Given the description of an element on the screen output the (x, y) to click on. 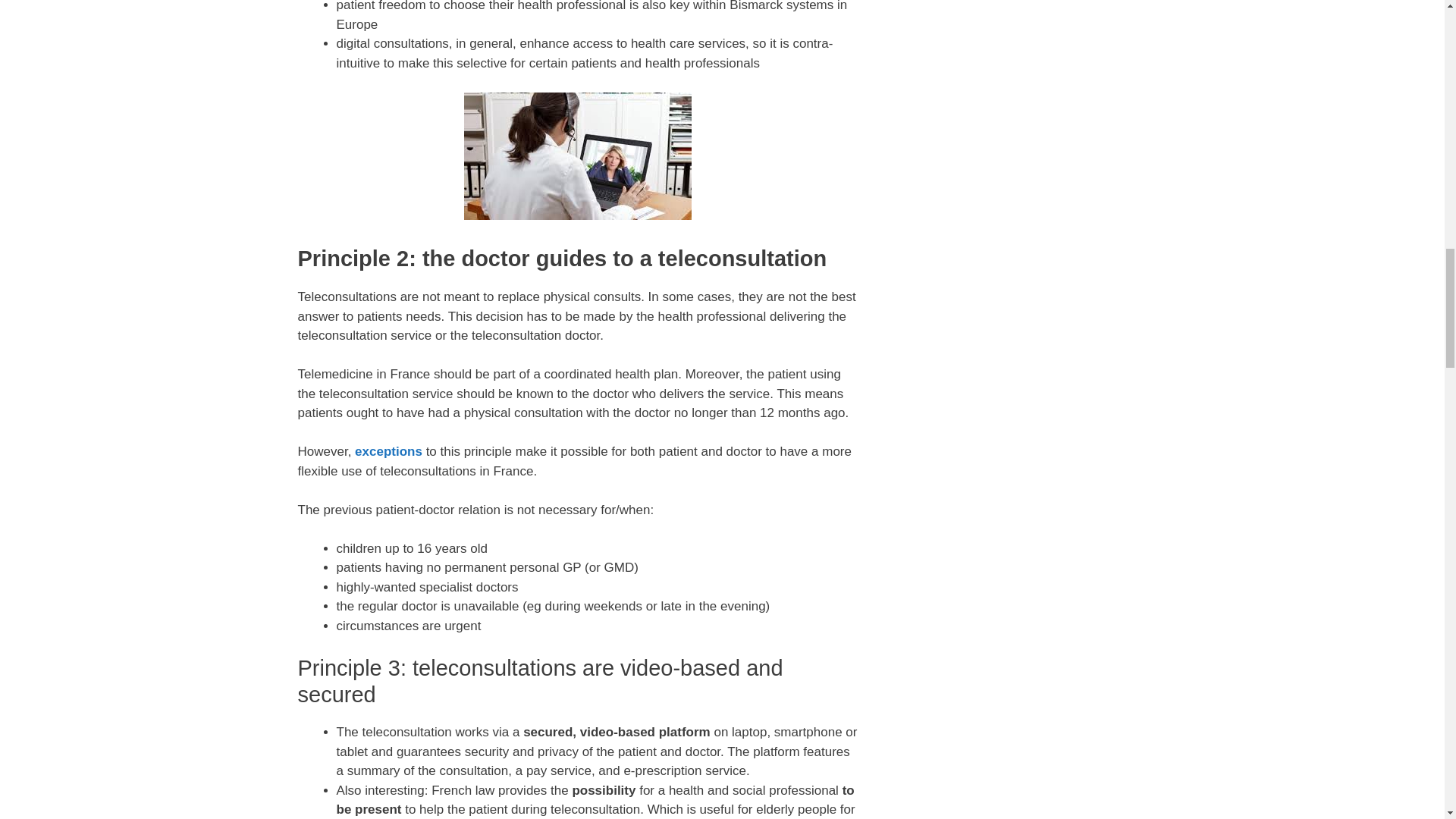
exceptions (388, 451)
